Given the description of an element on the screen output the (x, y) to click on. 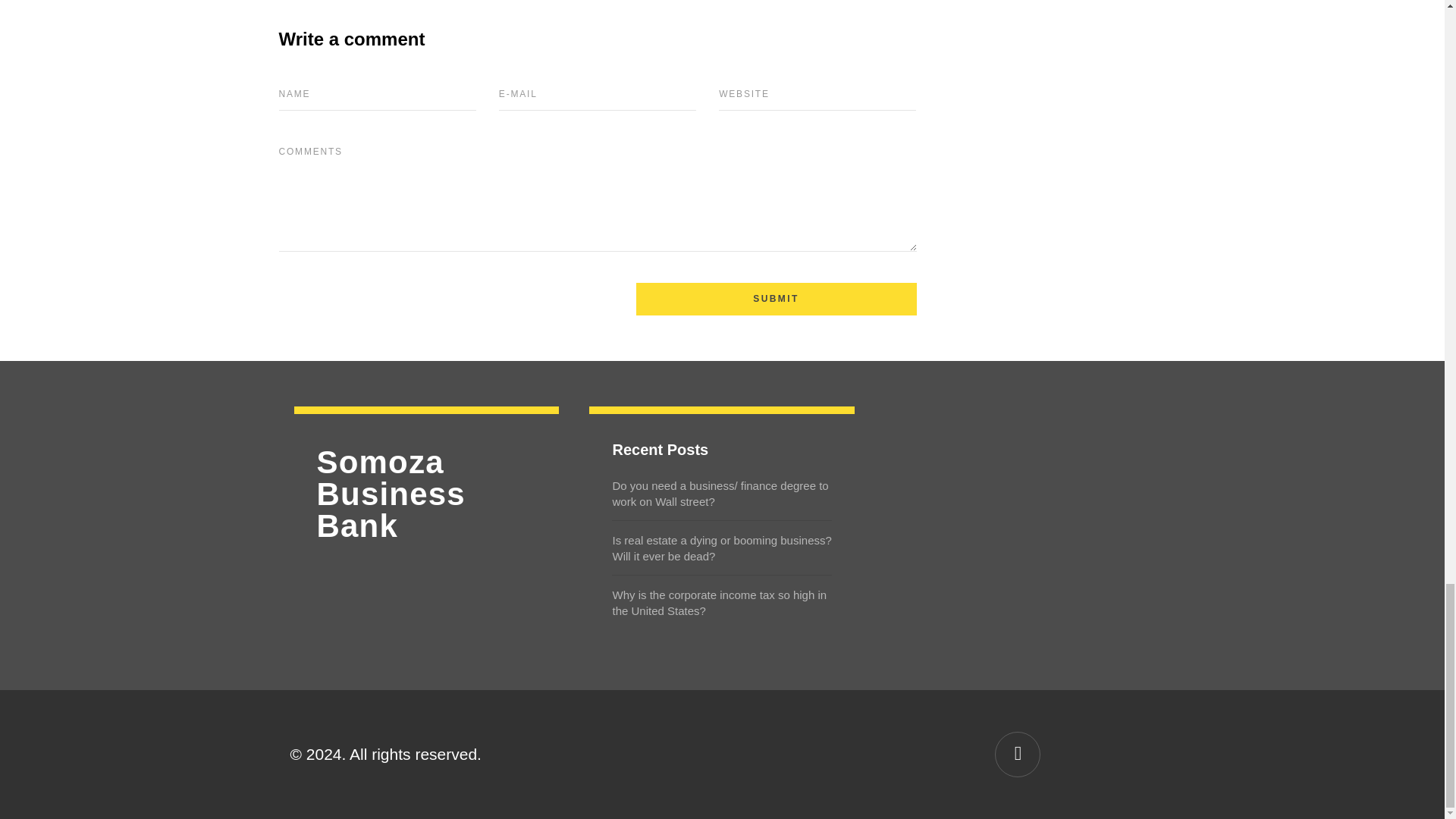
Submit (774, 298)
Somoza Business Bank (427, 494)
Submit (774, 298)
